Given the description of an element on the screen output the (x, y) to click on. 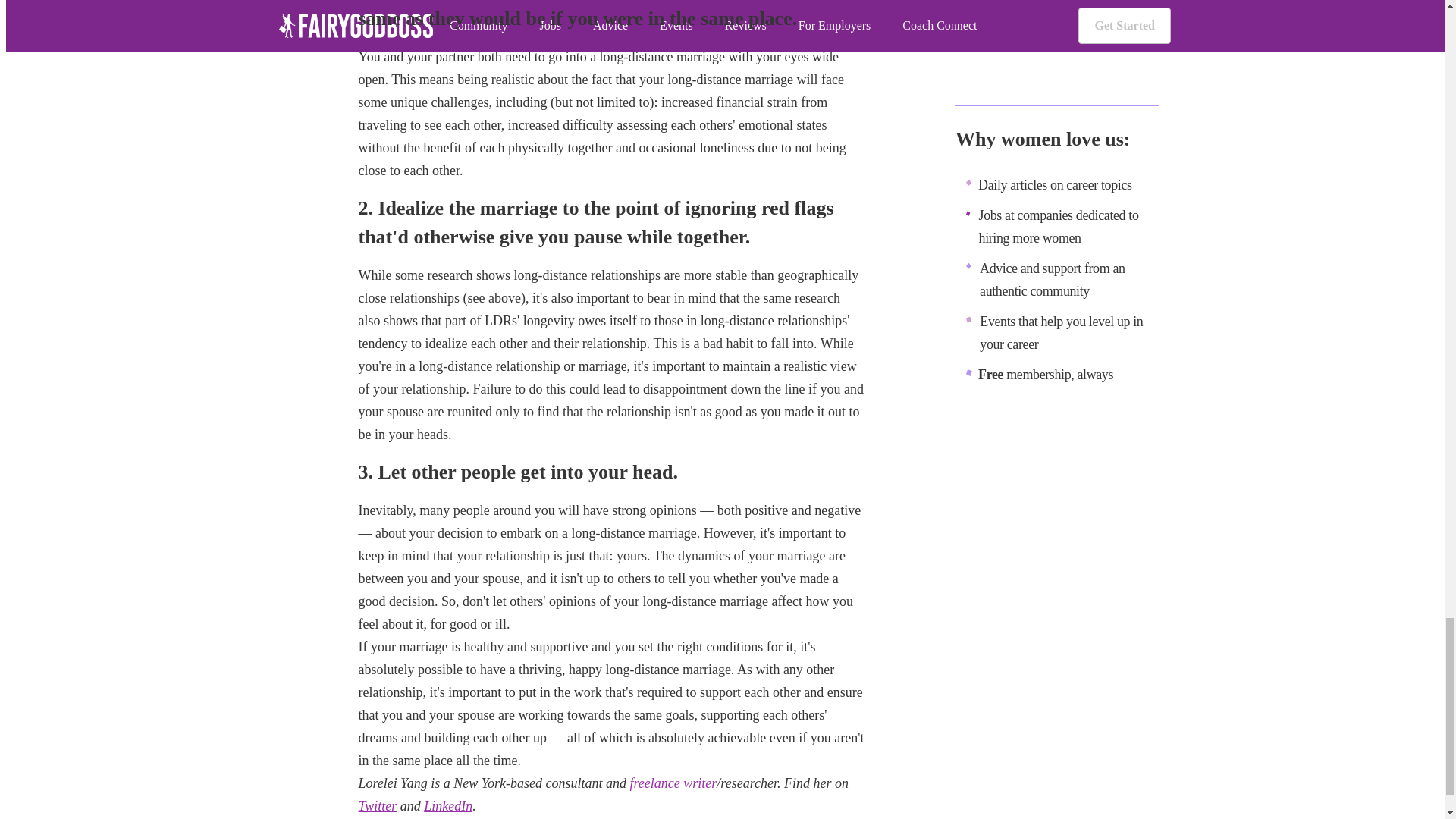
Twitter (377, 806)
LinkedIn (447, 806)
freelance writer (673, 783)
